Given the description of an element on the screen output the (x, y) to click on. 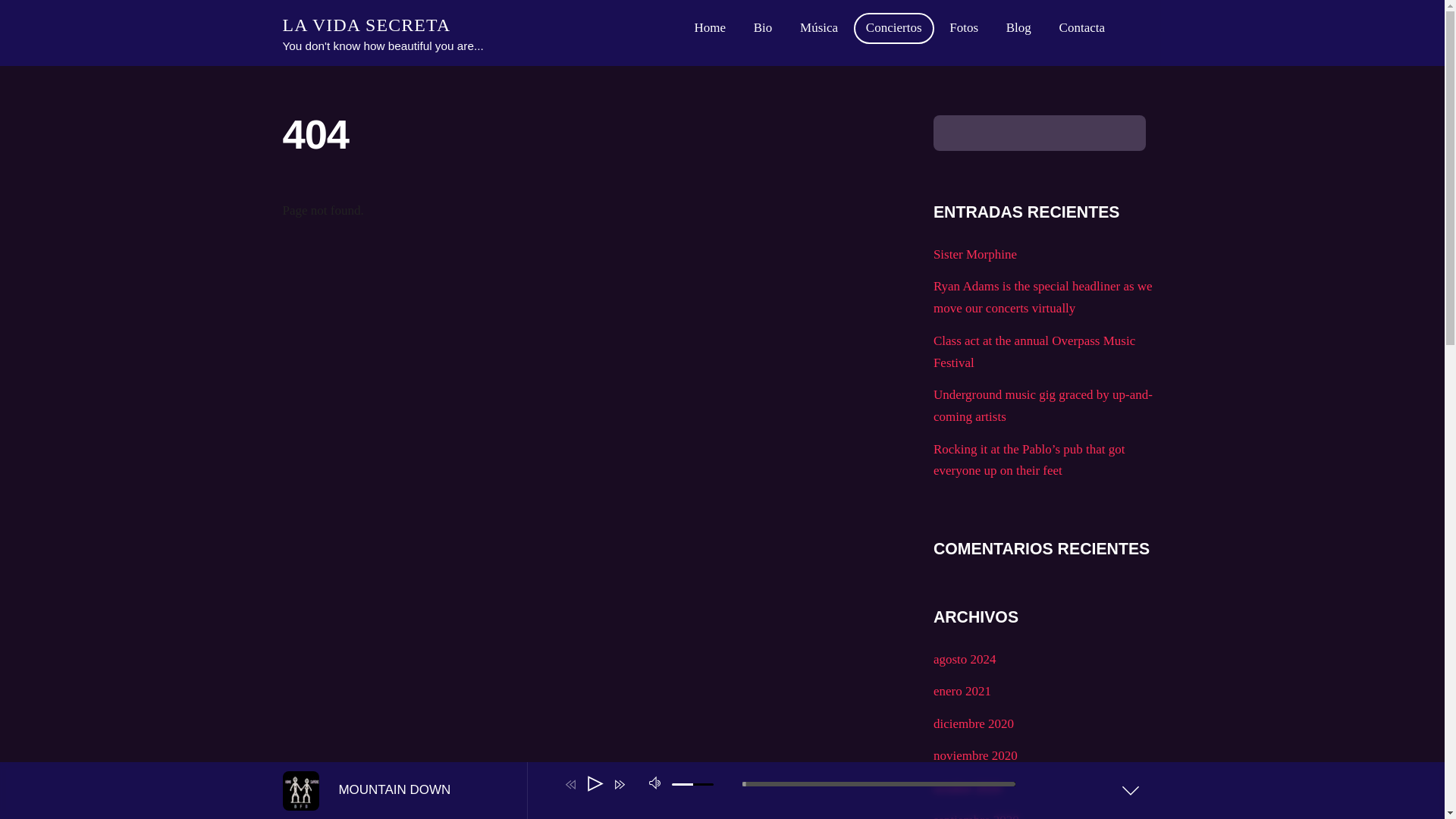
50 (692, 783)
agosto 2024 (964, 658)
octubre 2020 (967, 788)
Contacta (1081, 28)
Search (1039, 132)
diciembre 2020 (973, 723)
Blog (1018, 28)
LA VIDA SECRETA (365, 25)
Underground music gig graced by up-and-coming artists (1043, 405)
